Given the description of an element on the screen output the (x, y) to click on. 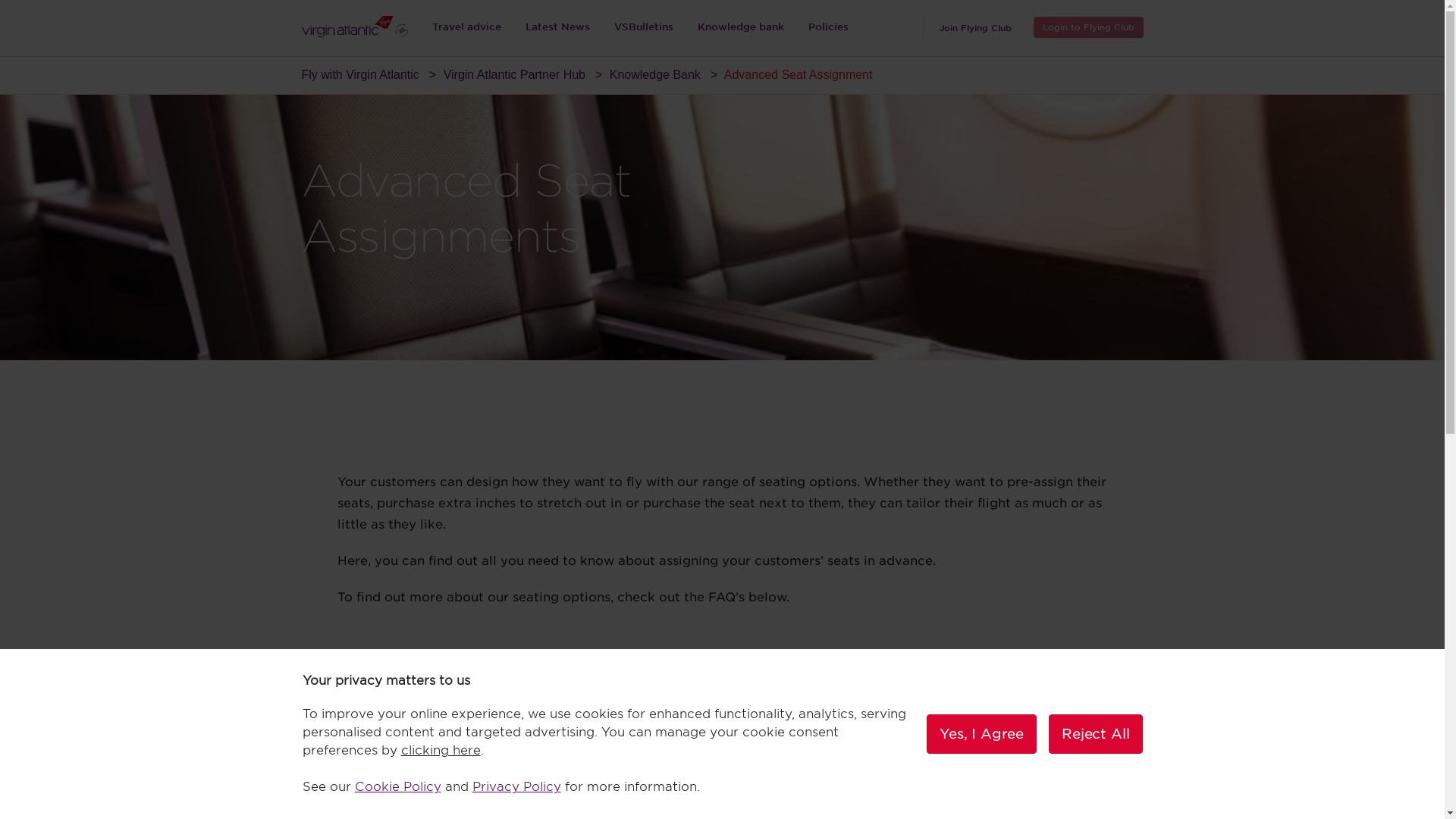
Knowledge Bank (655, 74)
Travel advice (466, 28)
VSBulletins (643, 28)
Login to Flying Club (1087, 27)
Knowledge bank (740, 28)
Virgin Atlantic Partner Hub (514, 74)
Fly with Virgin Atlantic (360, 74)
Policies (828, 28)
Latest News (556, 28)
delta.com (818, 712)
